Given the description of an element on the screen output the (x, y) to click on. 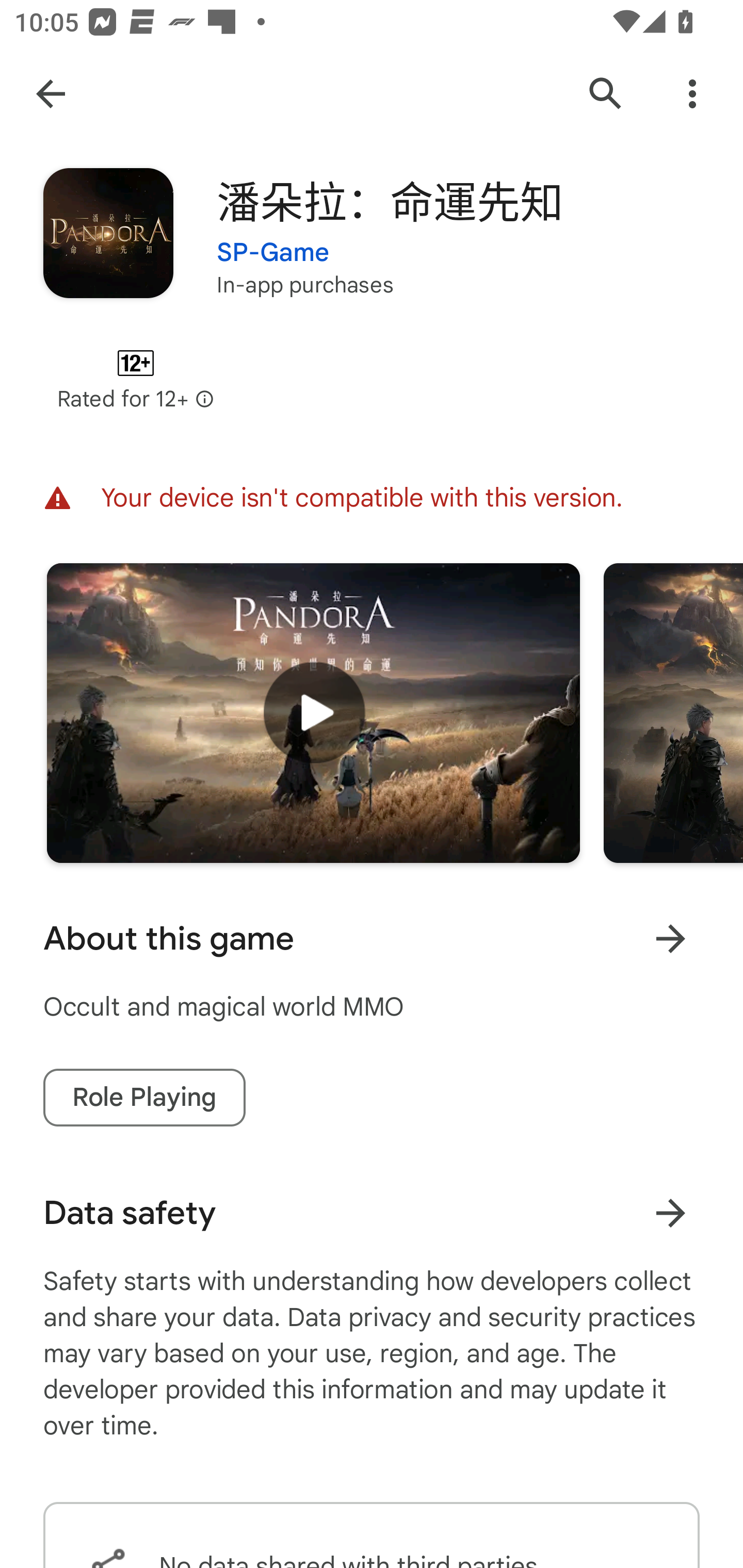
Navigate up (50, 93)
Search Google Play (605, 93)
More Options (692, 93)
SP-Game (272, 240)
Content rating Rated for 12+ (135, 379)
Play trailer for "潘朵拉：命運先知" (313, 712)
About this game Learn more About this game (371, 938)
Learn more About this game (670, 938)
Role Playing tag (144, 1097)
Data safety Learn more about data safety (371, 1212)
Learn more about data safety (670, 1212)
